Given the description of an element on the screen output the (x, y) to click on. 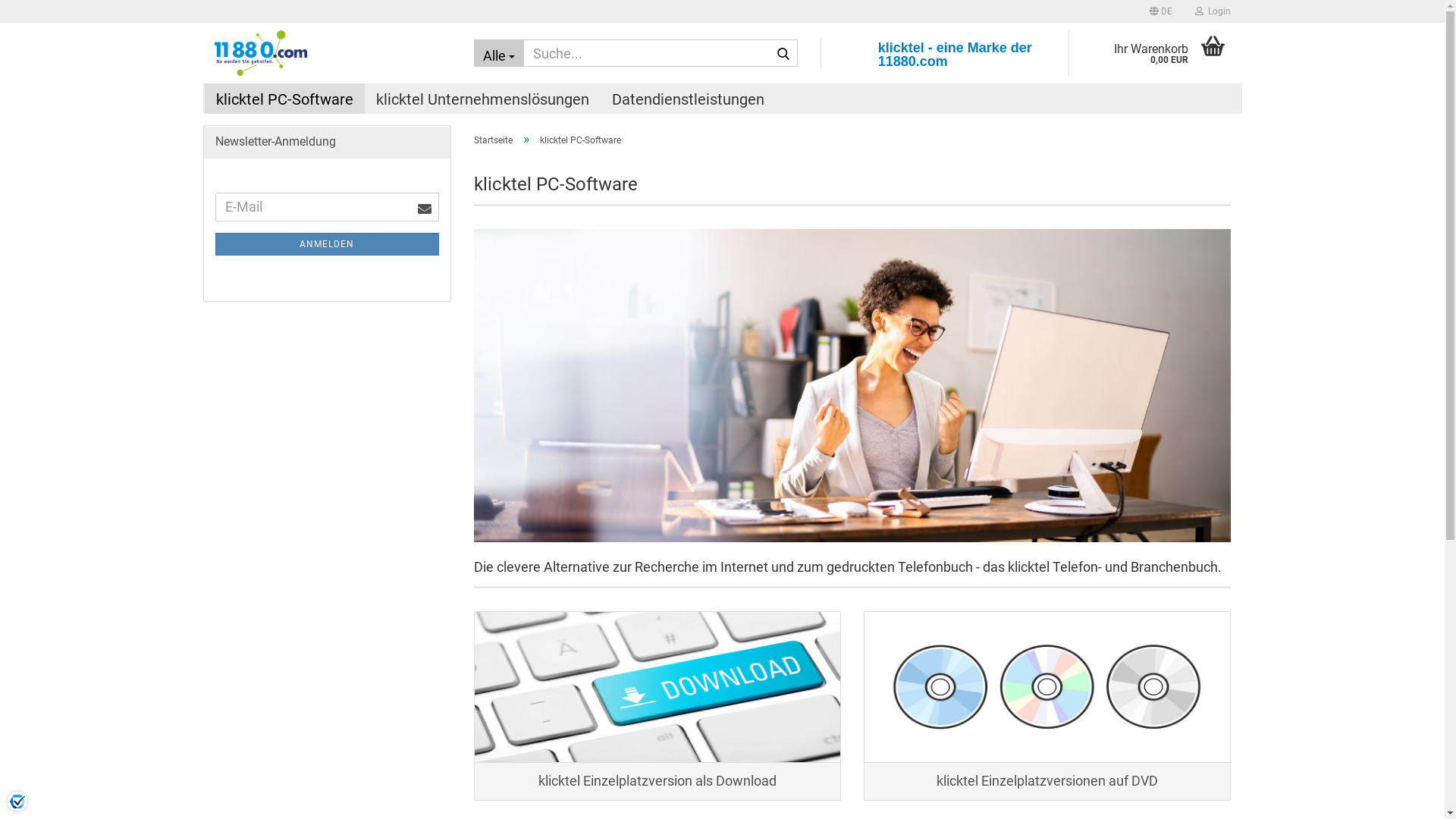
klicktel PC-Software Element type: text (284, 98)
Startseite Element type: text (492, 139)
Speichern Element type: text (1077, 193)
Datendienstleistungen Element type: text (687, 98)
ANMELDEN Element type: text (327, 243)
Alle Element type: text (498, 52)
shop.11880.com Element type: hover (332, 52)
 Login Element type: text (1212, 11)
Privacy settings Element type: hover (17, 801)
klicktel Einzelplatzversion als Download Element type: hover (657, 686)
klicktel Einzelplatzversionen auf DVD Element type: hover (1047, 686)
Anmelden Element type: text (1129, 187)
klicktel PC-Software Element type: hover (851, 385)
DE Element type: text (1160, 11)
klicktel Einzelplatzversionen auf DVD Element type: text (1046, 705)
Ihr Warenkorb
0,00 EUR Element type: text (1154, 52)
klicktel Einzelplatzversion als Download Element type: text (656, 705)
